Given the description of an element on the screen output the (x, y) to click on. 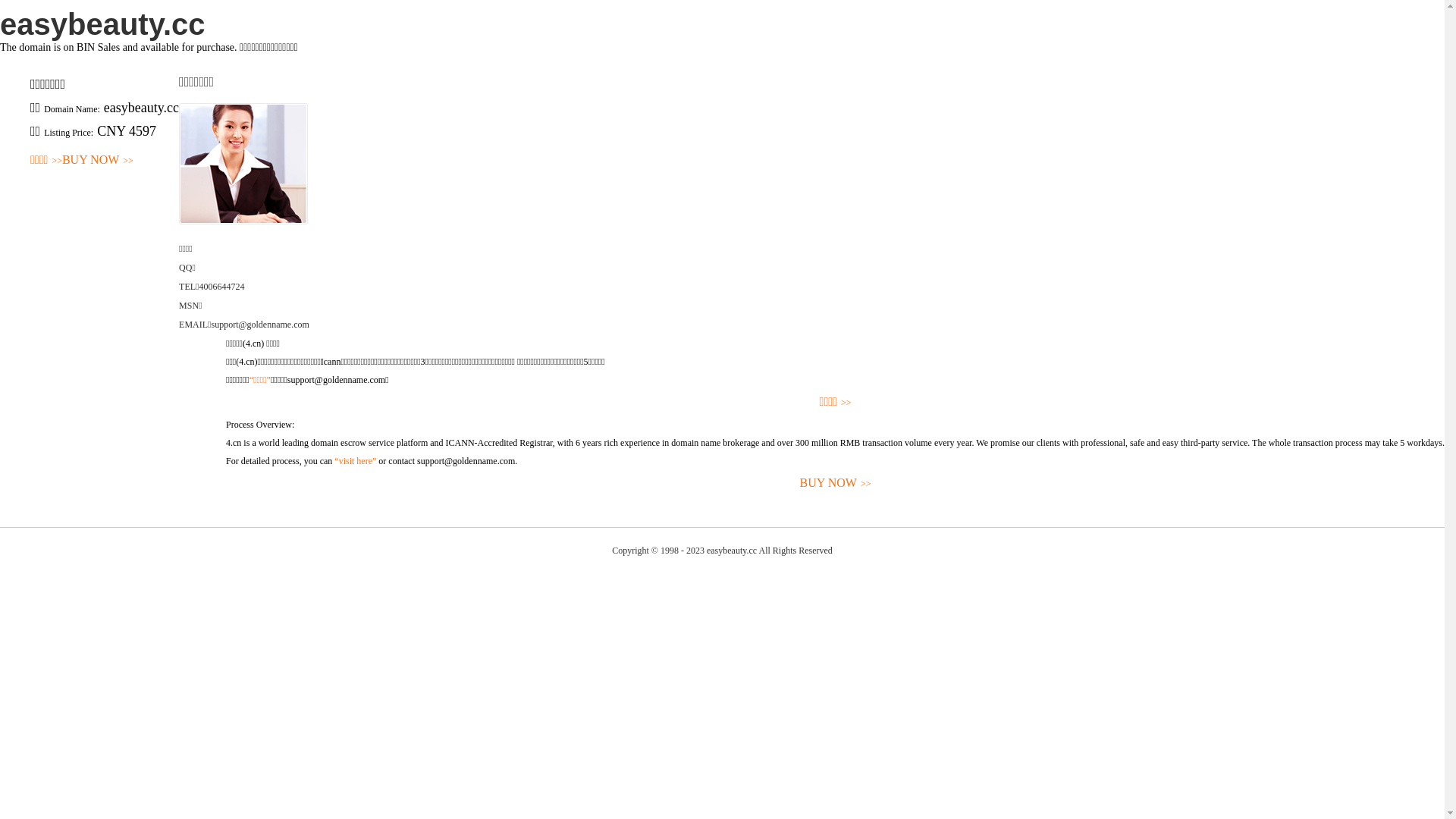
BUY NOW>> Element type: text (834, 483)
BUY NOW>> Element type: text (97, 160)
